Given the description of an element on the screen output the (x, y) to click on. 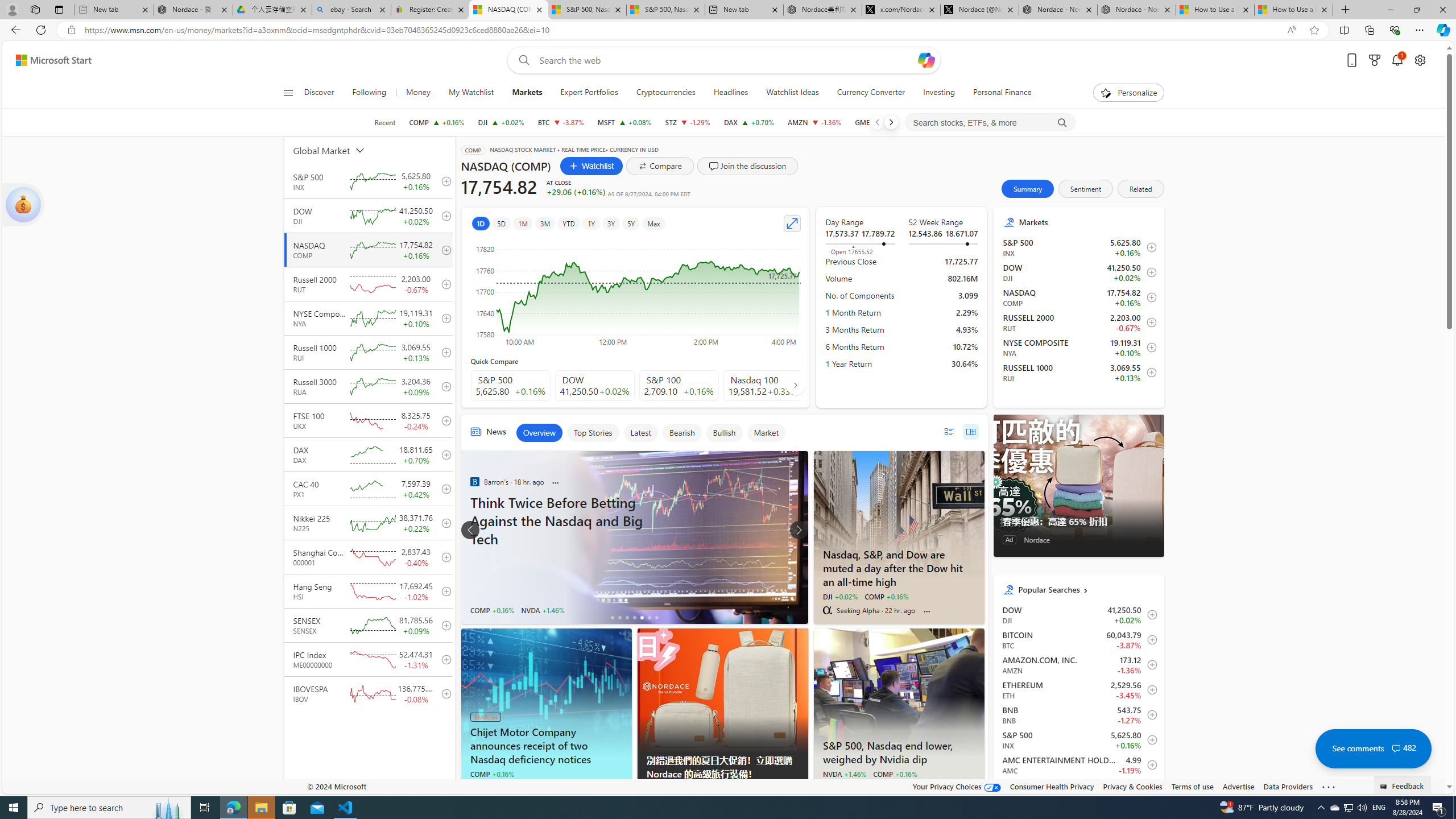
Market (765, 432)
Class: recharts-surface (635, 292)
Skip to footer (46, 59)
Bearish (681, 432)
Overview (538, 432)
add to your watchlist (442, 693)
1Y (590, 223)
